Given the description of an element on the screen output the (x, y) to click on. 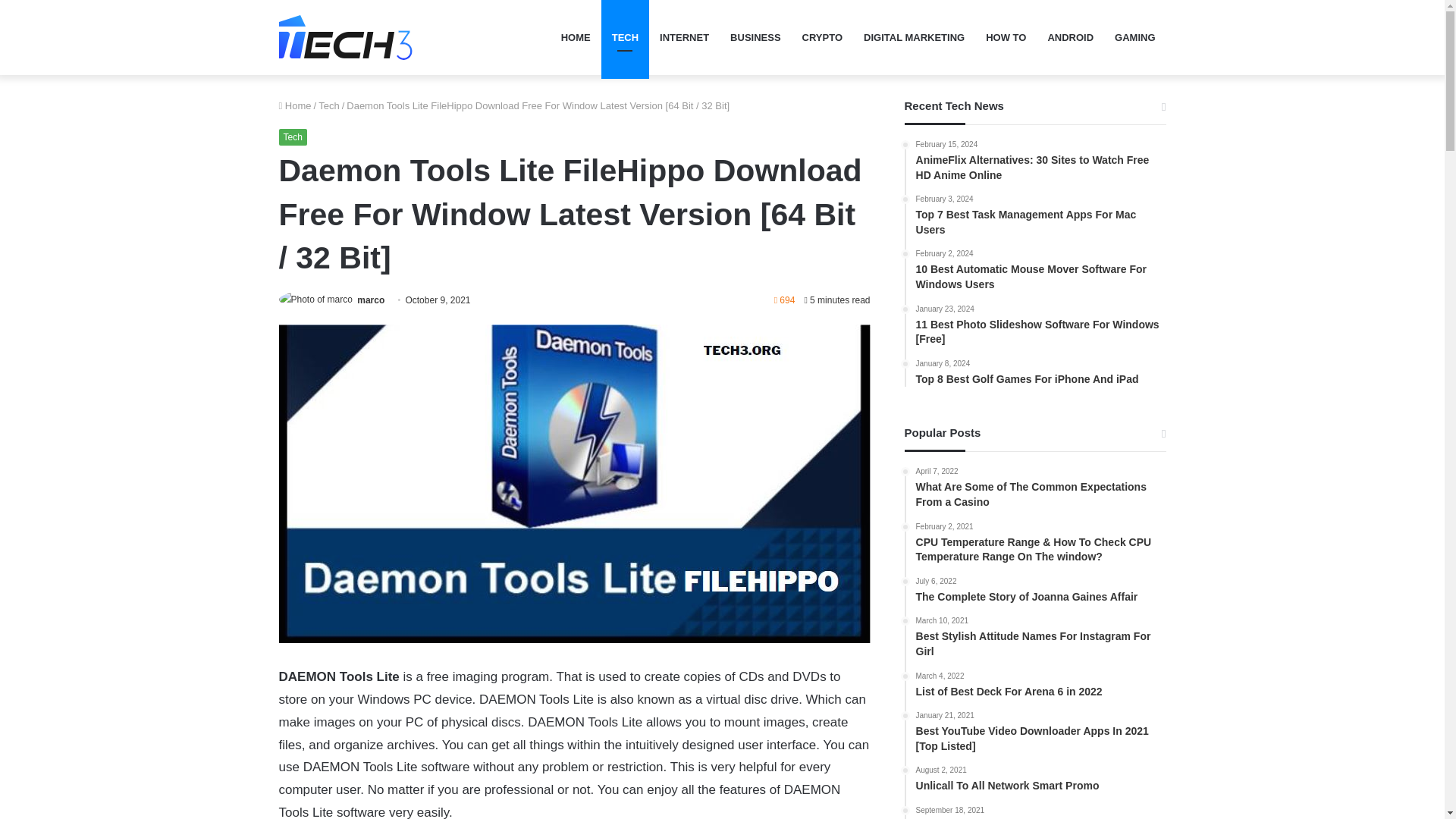
Home (295, 105)
Tech (328, 105)
Tech3 (345, 37)
ANDROID (1069, 37)
BUSINESS (754, 37)
INTERNET (684, 37)
DIGITAL MARKETING (914, 37)
Tech (293, 136)
marco (370, 299)
marco (370, 299)
